Given the description of an element on the screen output the (x, y) to click on. 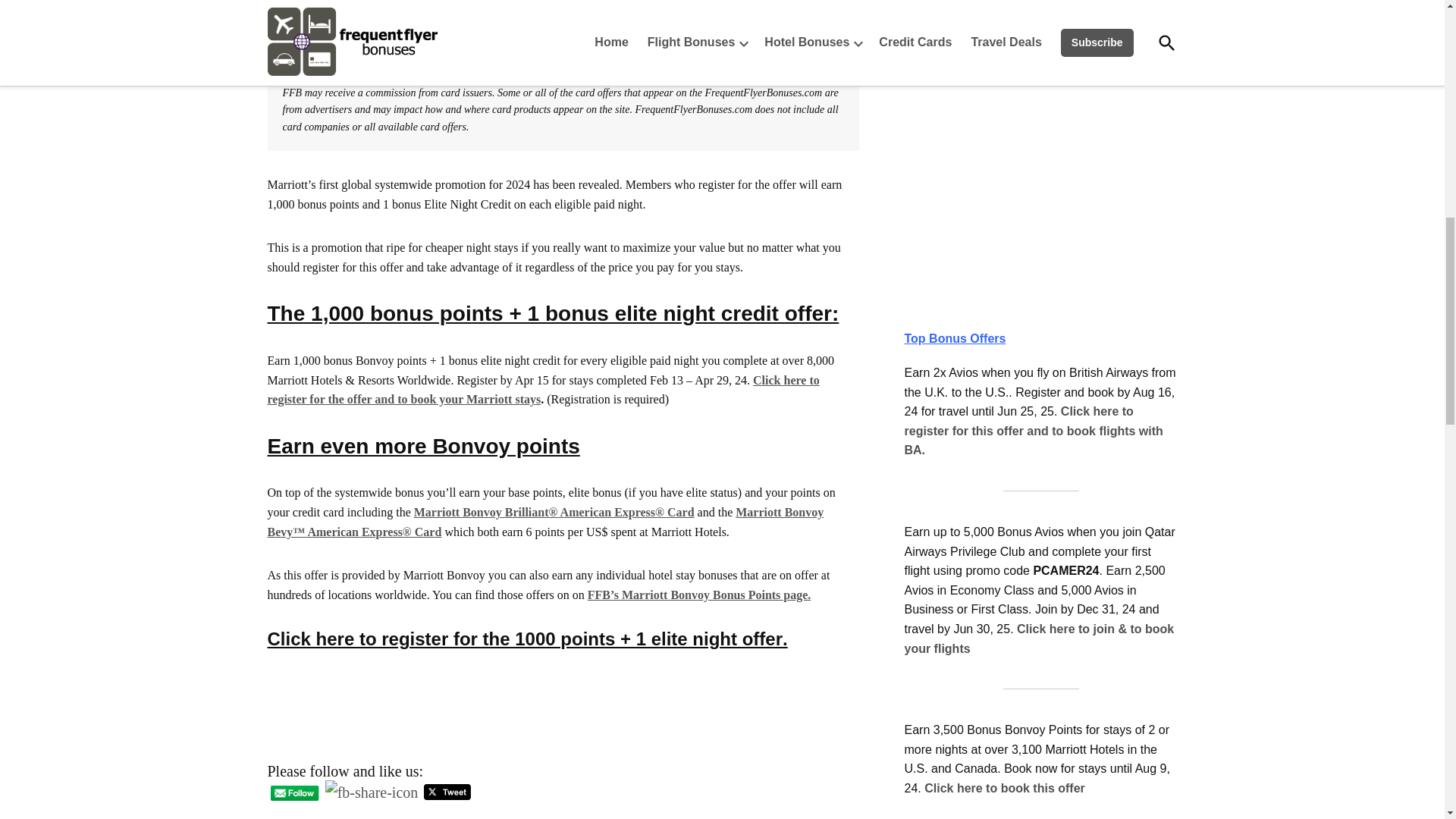
Tweet (446, 791)
Facebook Share (371, 792)
